Given the description of an element on the screen output the (x, y) to click on. 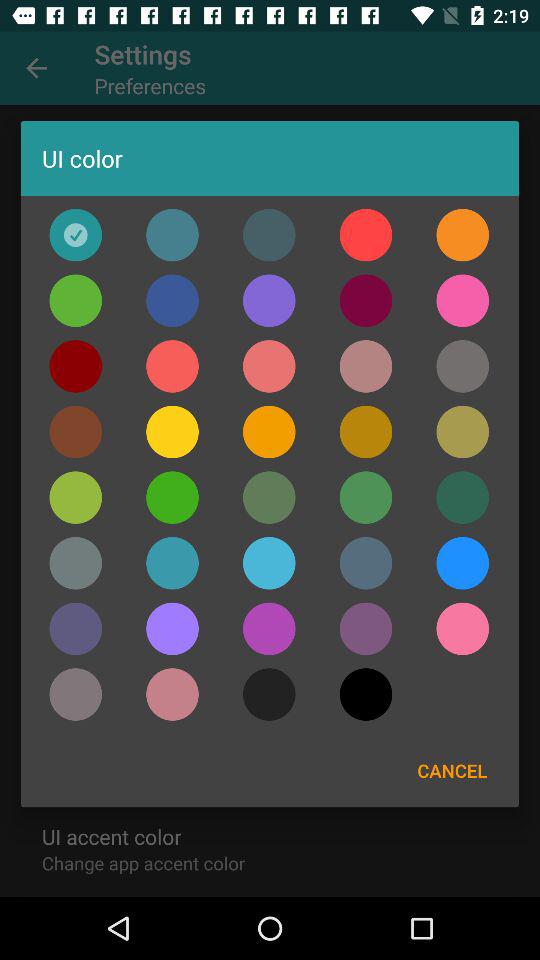
select color (75, 234)
